Given the description of an element on the screen output the (x, y) to click on. 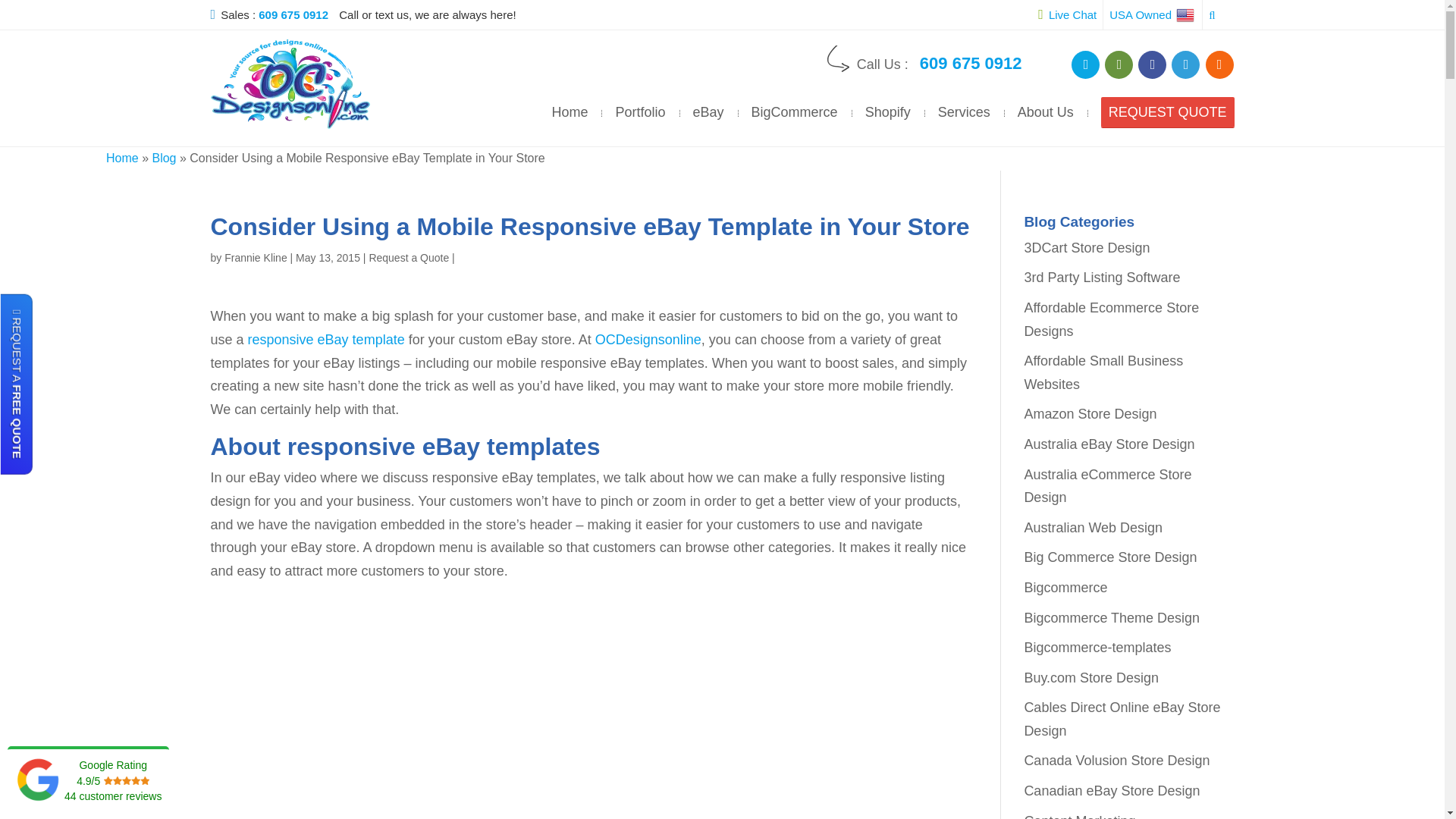
Checkout our latest blog posts (1219, 64)
OCDesignsOnline (290, 83)
USA Owned (1152, 14)
Call us on skype (1085, 64)
Live Chat (1067, 14)
Like us on facebook (1152, 64)
Posts by Frannie Kline (255, 257)
Follow us on twitter (1185, 64)
609 675 0912 (297, 14)
609 675 0912 (970, 63)
